Given the description of an element on the screen output the (x, y) to click on. 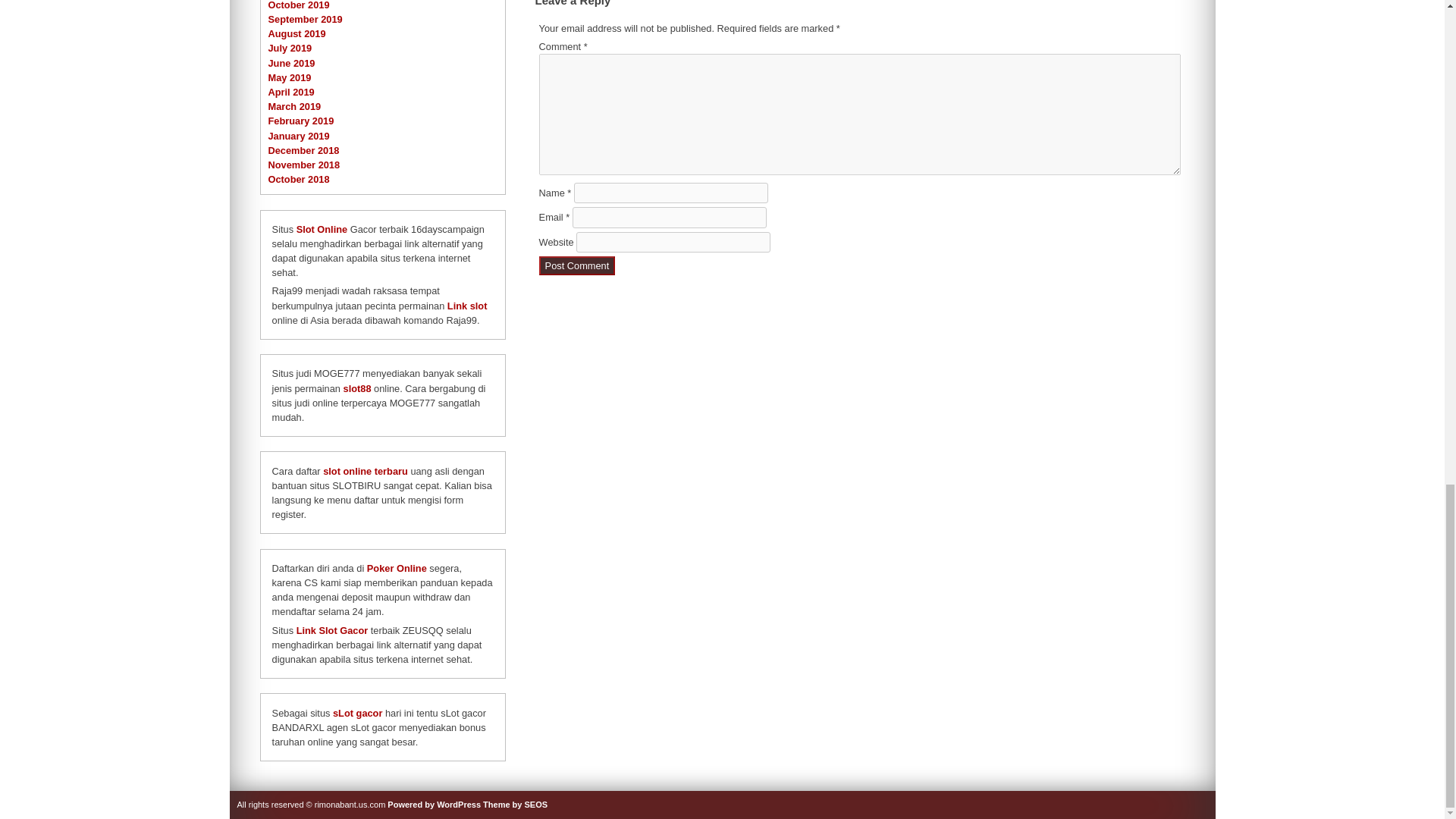
Post Comment (576, 265)
Post Comment (576, 265)
Seos free wordpress themes (515, 804)
